Given the description of an element on the screen output the (x, y) to click on. 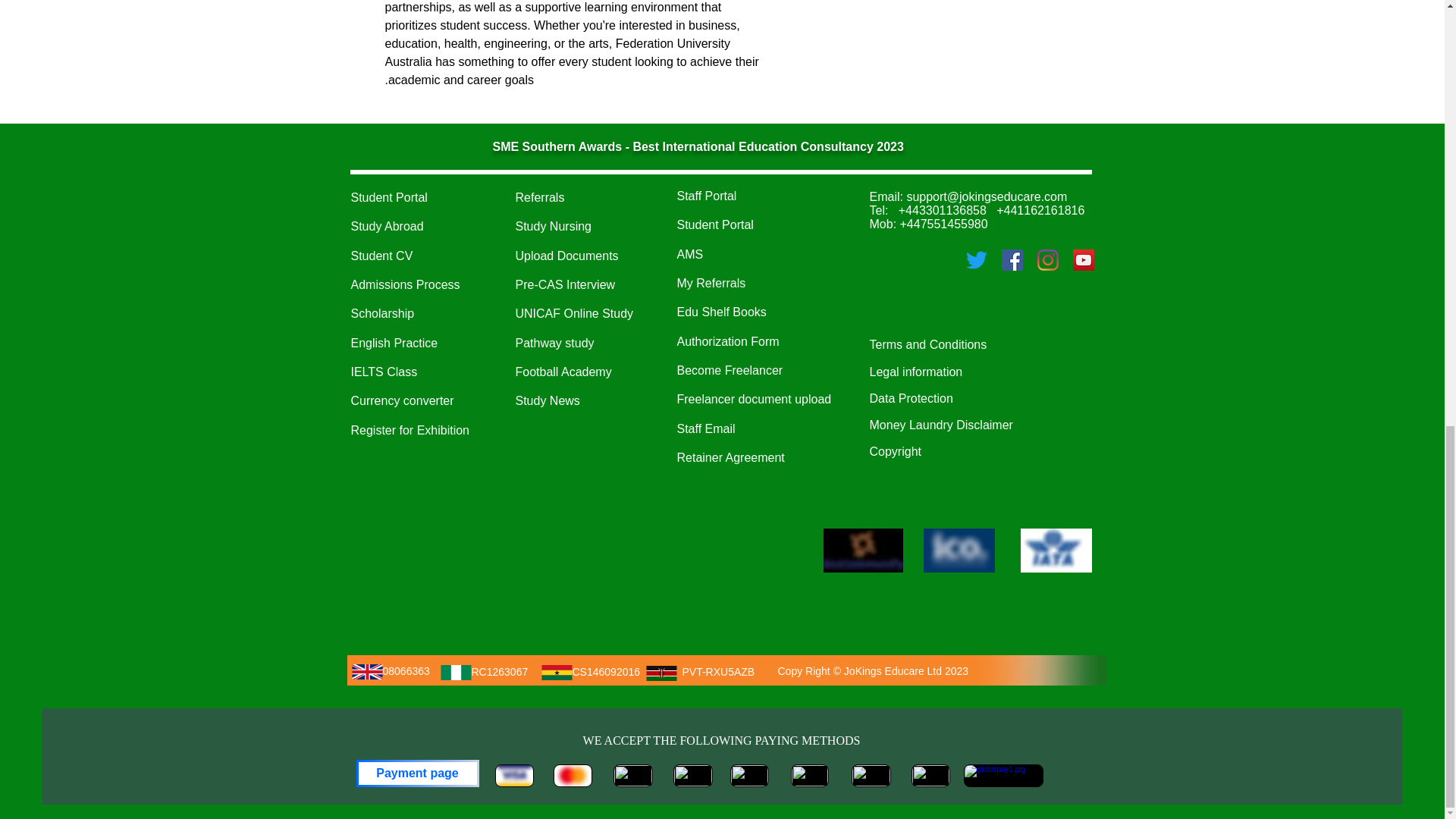
Communify logo-11 2.jpg (863, 550)
